Given the description of an element on the screen output the (x, y) to click on. 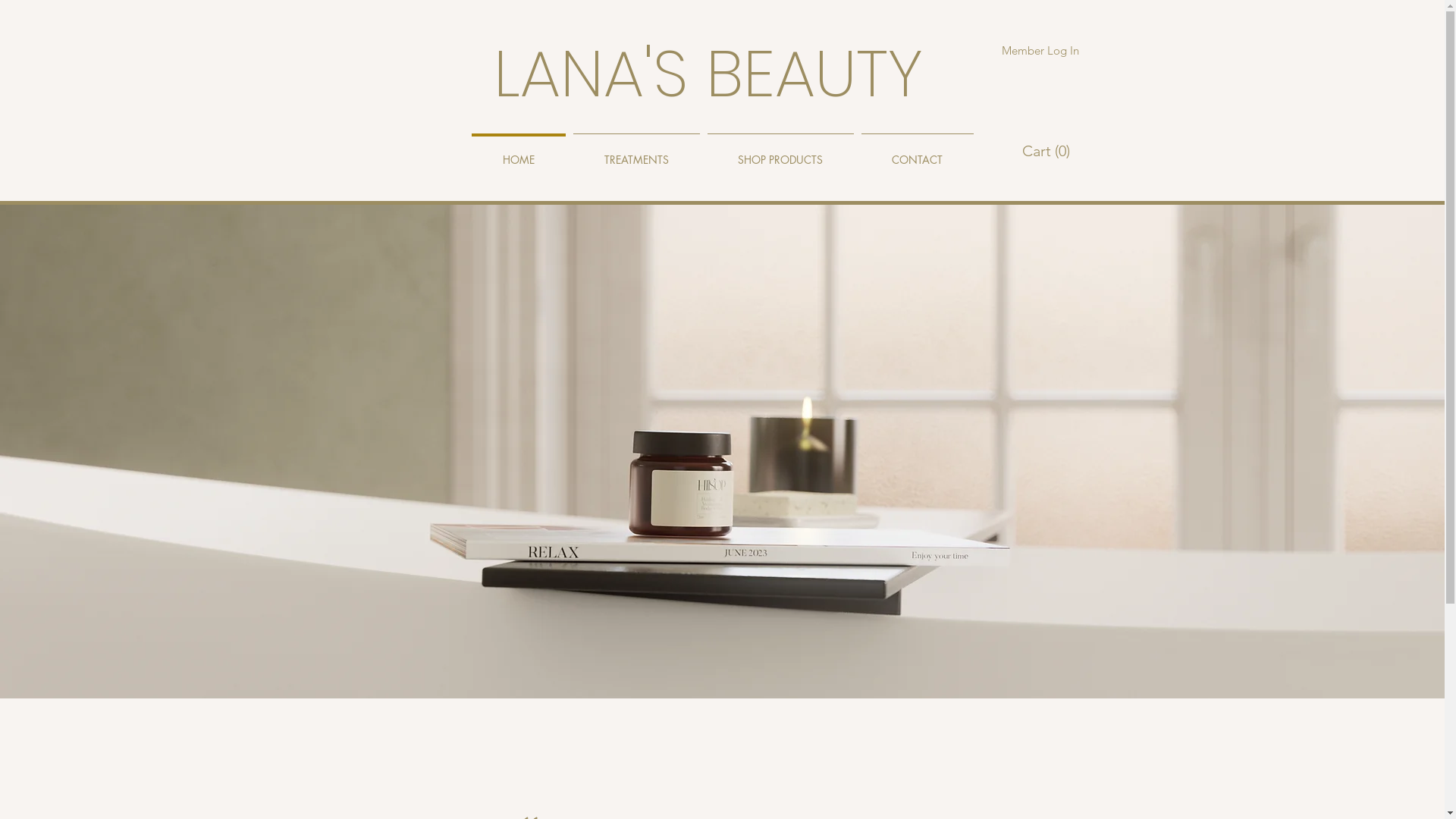
Cart (0) Element type: text (1045, 151)
HOME Element type: text (517, 152)
Member Log In Element type: text (1034, 49)
SHOP PRODUCTS Element type: text (780, 152)
CONTACT Element type: text (916, 152)
TREATMENTS Element type: text (635, 152)
LANA'S BEAUTY Element type: text (707, 73)
